Given the description of an element on the screen output the (x, y) to click on. 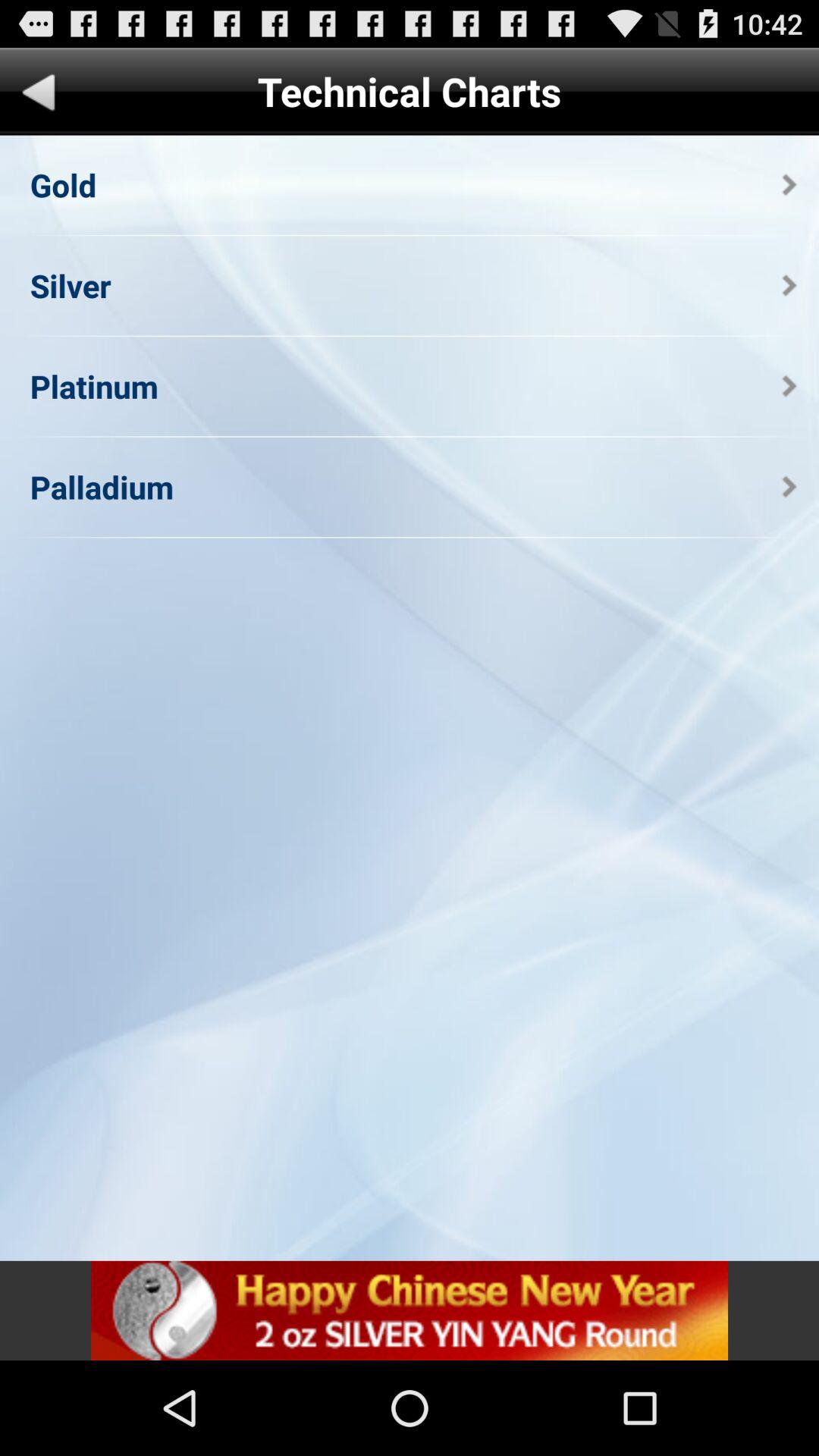
open app above silver (63, 184)
